Given the description of an element on the screen output the (x, y) to click on. 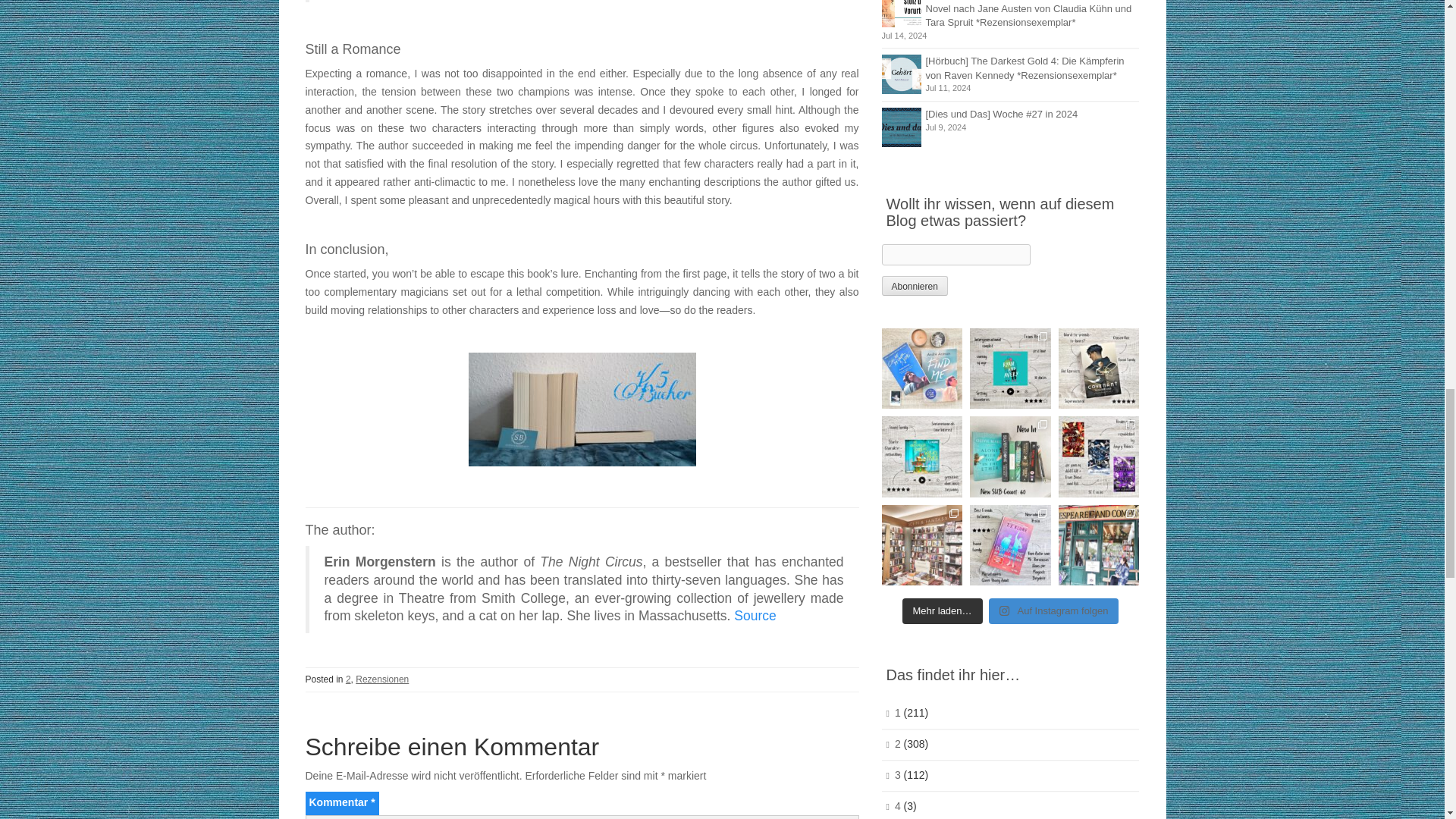
Abonnieren (913, 285)
Source (754, 615)
Rezensionen (382, 679)
